Given the description of an element on the screen output the (x, y) to click on. 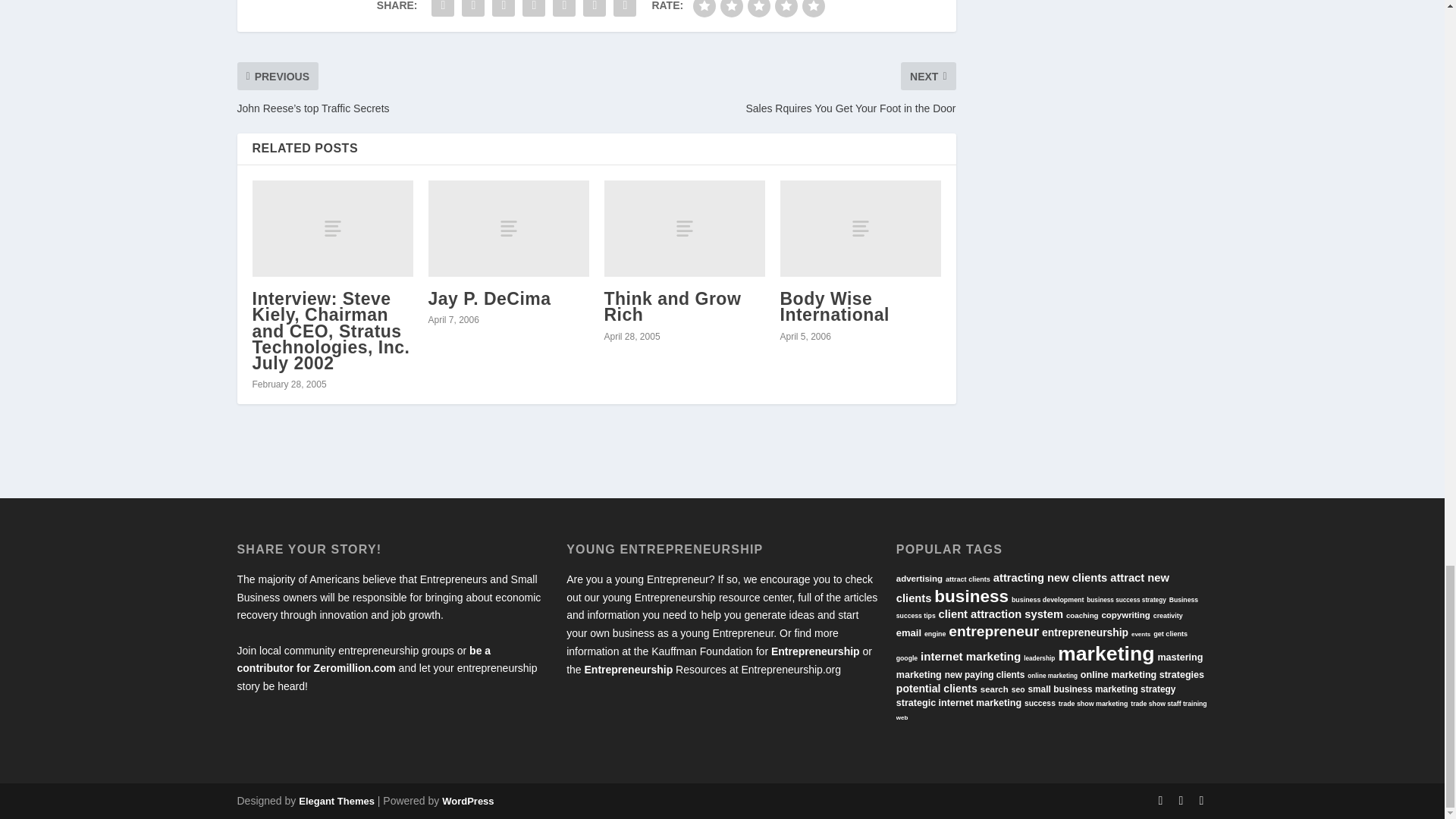
Share "Trapped and Want Out?" via Facebook (443, 10)
regular (759, 8)
Share "Trapped and Want Out?" via Print (625, 10)
Share "Trapped and Want Out?" via Twitter (472, 10)
gorgeous (813, 8)
Share "Trapped and Want Out?" via Email (594, 10)
Share "Trapped and Want Out?" via LinkedIn (533, 10)
good (785, 8)
poor (731, 8)
bad (704, 8)
Share "Trapped and Want Out?" via Stumbleupon (563, 10)
